Given the description of an element on the screen output the (x, y) to click on. 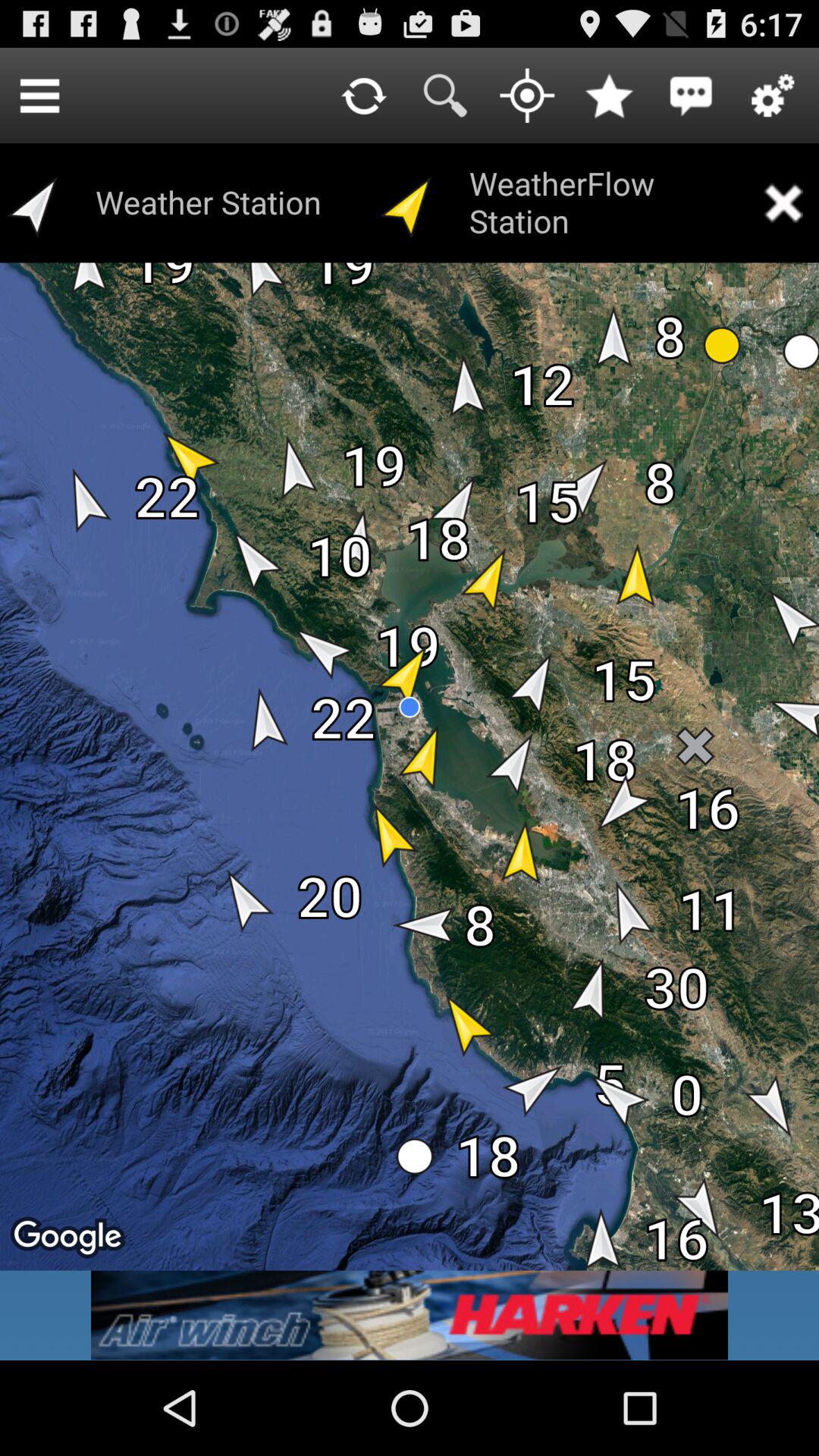
select icon to the left of the weather station icon (39, 95)
